Given the description of an element on the screen output the (x, y) to click on. 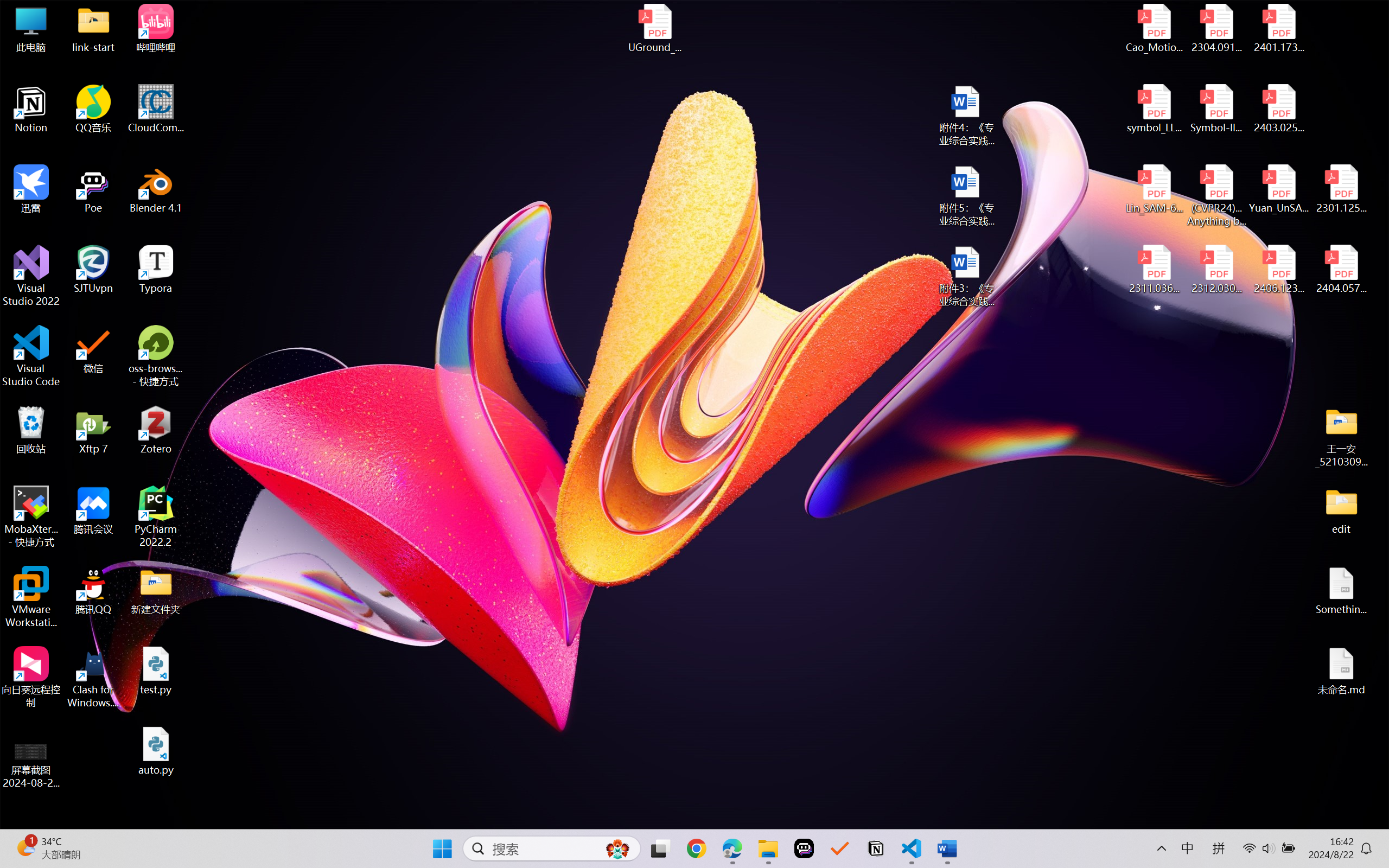
SJTUvpn (93, 269)
2301.12597v3.pdf (1340, 189)
2311.03658v2.pdf (1154, 269)
Symbol-llm-v2.pdf (1216, 109)
Visual Studio Code (31, 355)
